Given the description of an element on the screen output the (x, y) to click on. 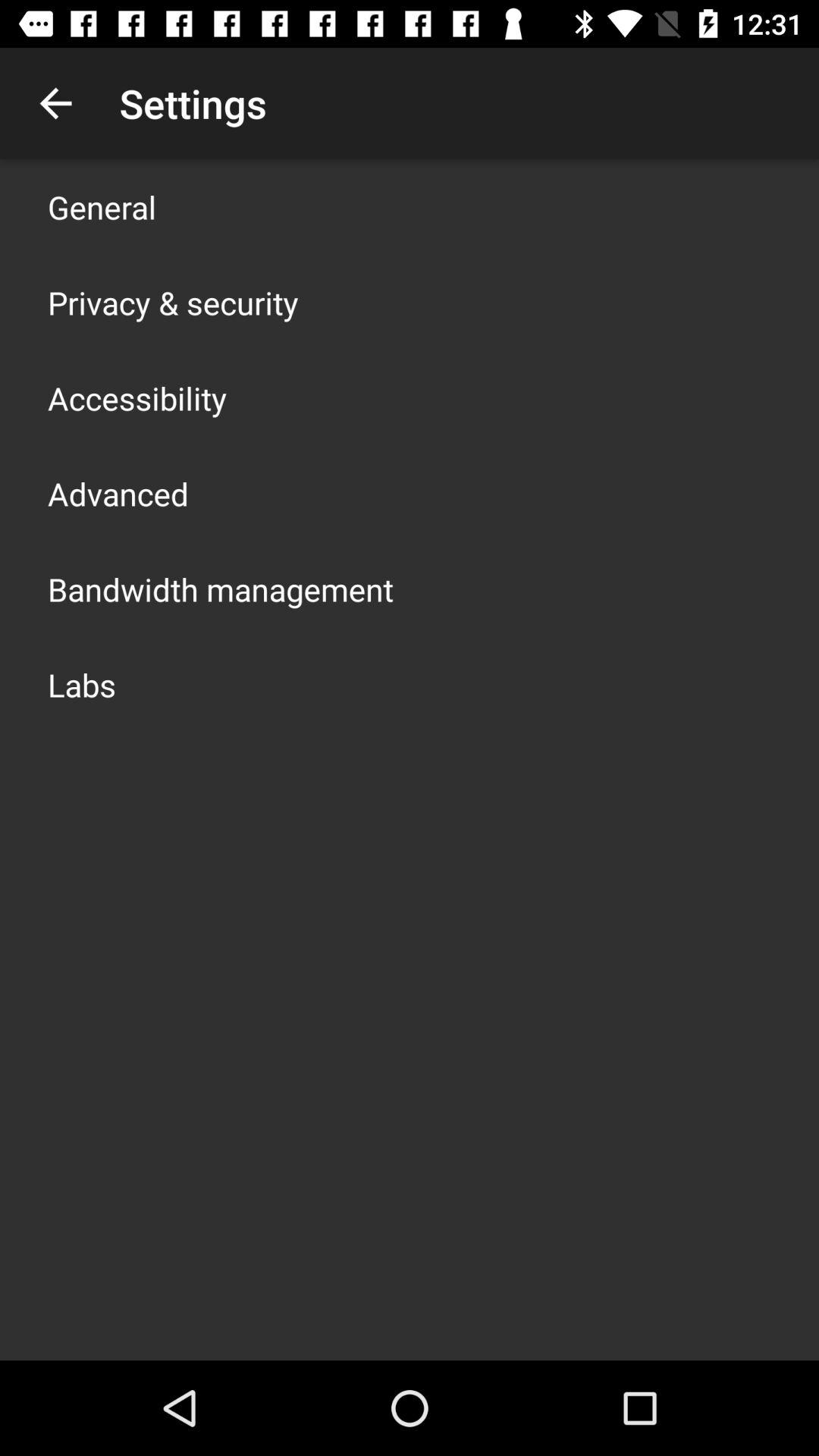
turn on the item below general app (172, 302)
